Given the description of an element on the screen output the (x, y) to click on. 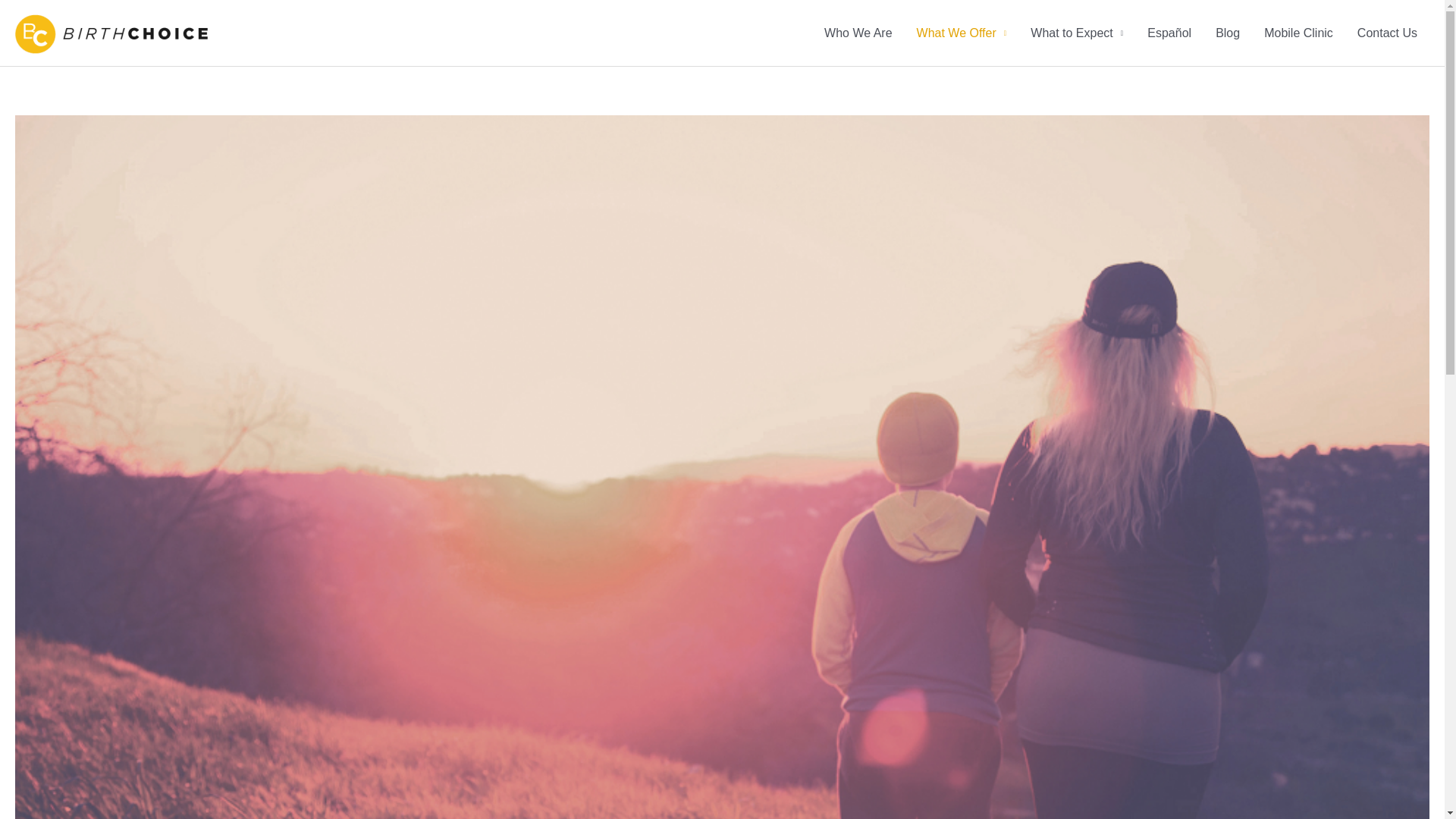
Contact Us (1387, 33)
What to Expect (1076, 33)
Mobile Clinic (1298, 33)
Blog (1228, 33)
Who We Are (858, 33)
What We Offer (961, 33)
